Given the description of an element on the screen output the (x, y) to click on. 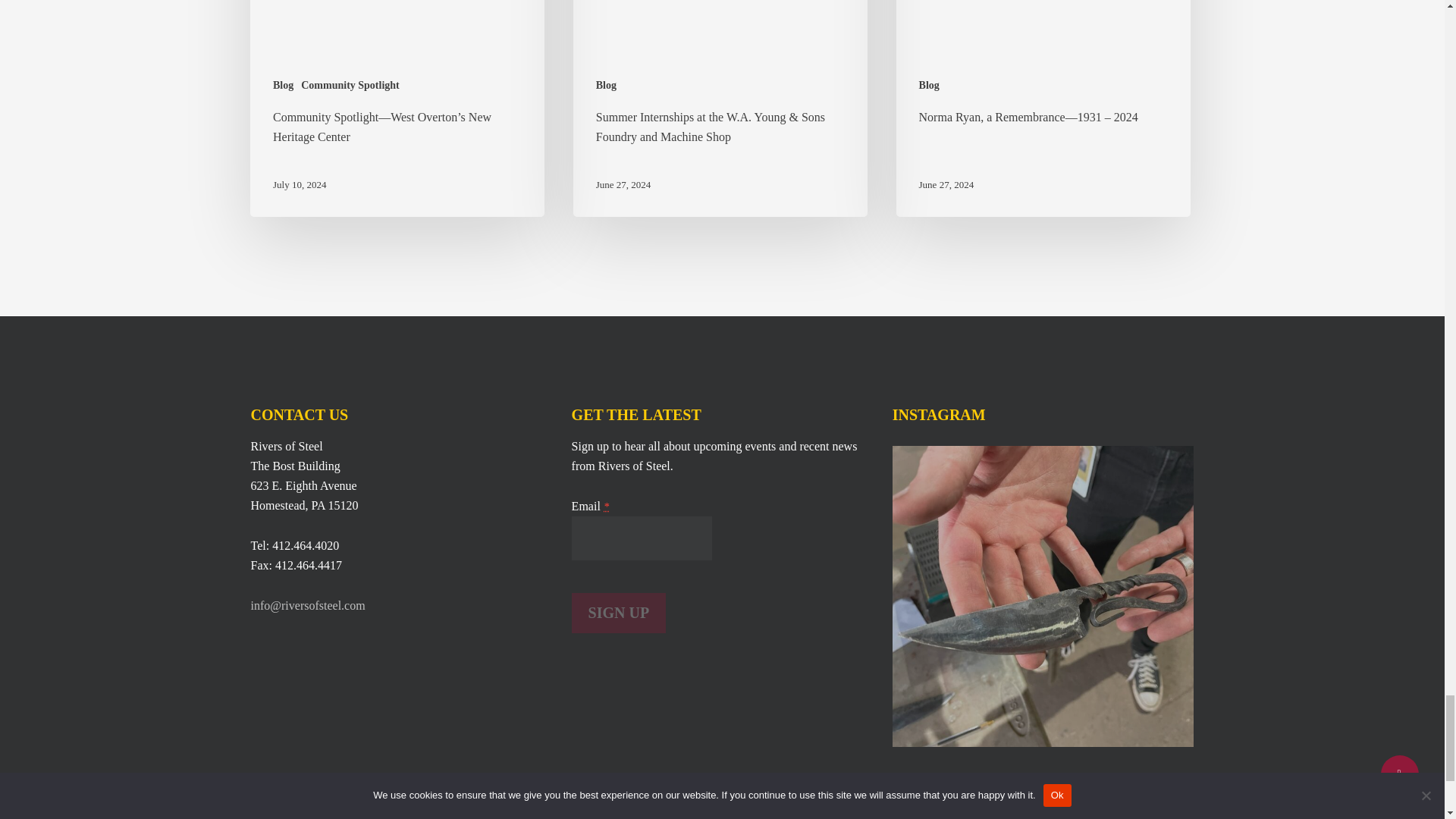
Sign up (619, 612)
